Given the description of an element on the screen output the (x, y) to click on. 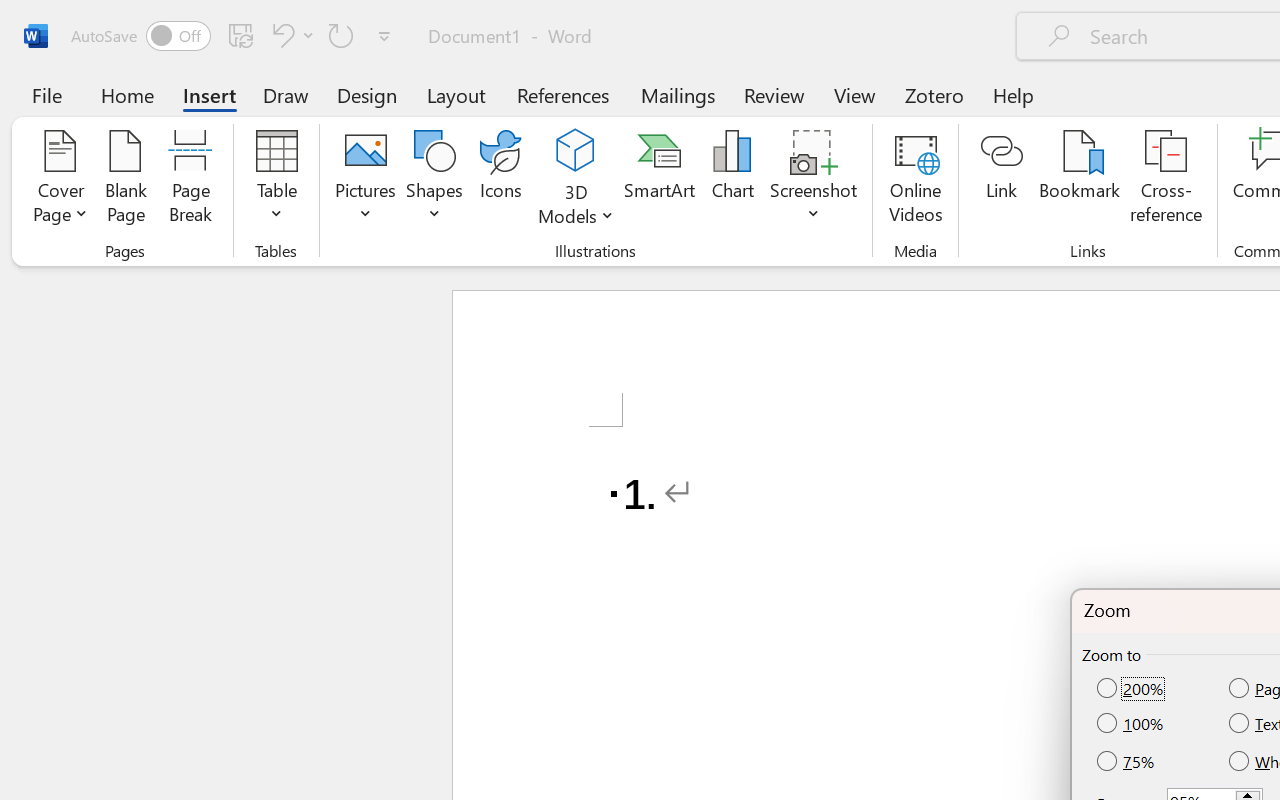
Shapes (435, 179)
Page Break (190, 179)
Repeat Doc Close (341, 35)
75% (1127, 760)
Blank Page (125, 179)
Undo Number Default (280, 35)
Table (276, 179)
